Given the description of an element on the screen output the (x, y) to click on. 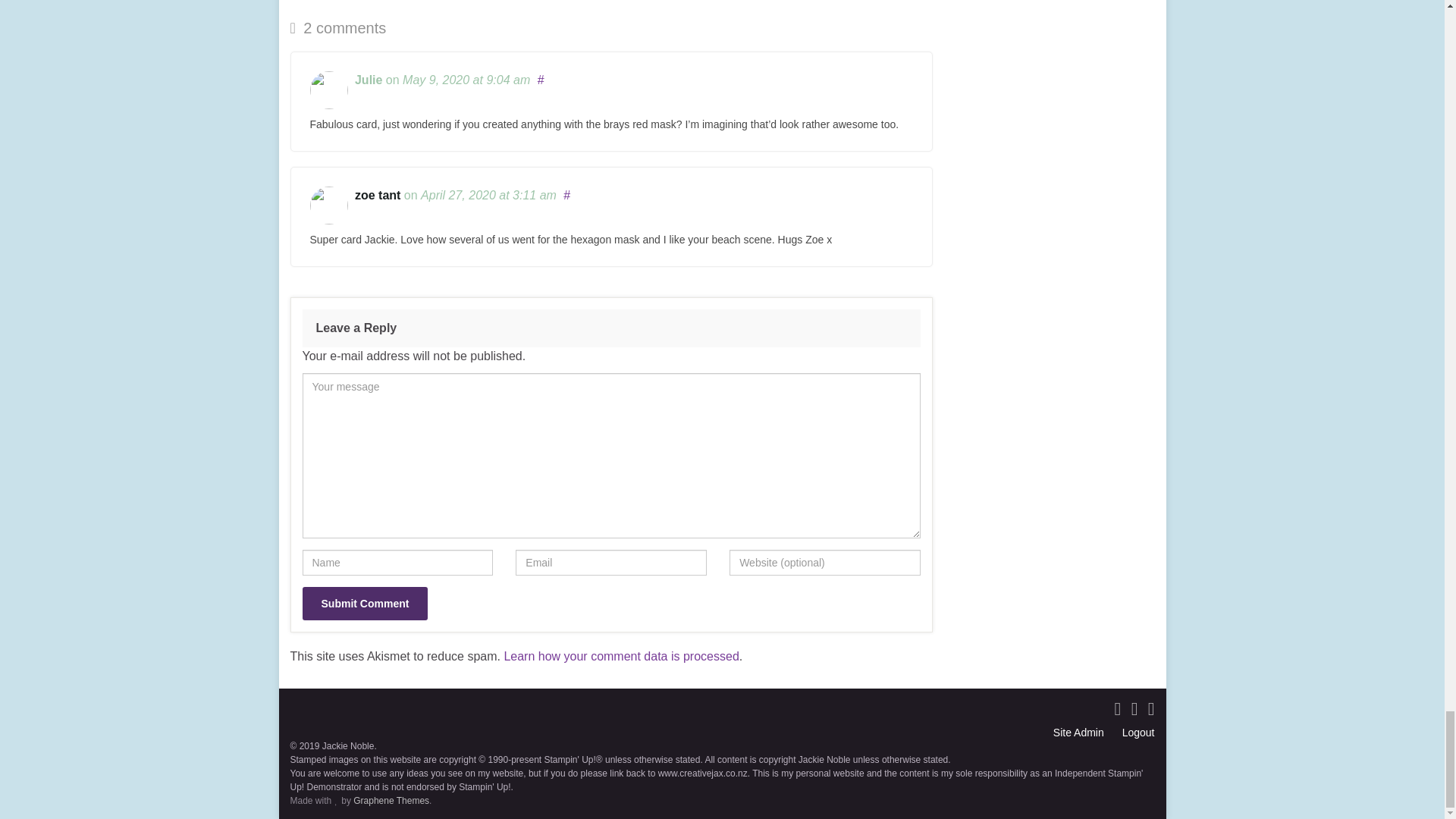
Submit Comment (364, 603)
